Given the description of an element on the screen output the (x, y) to click on. 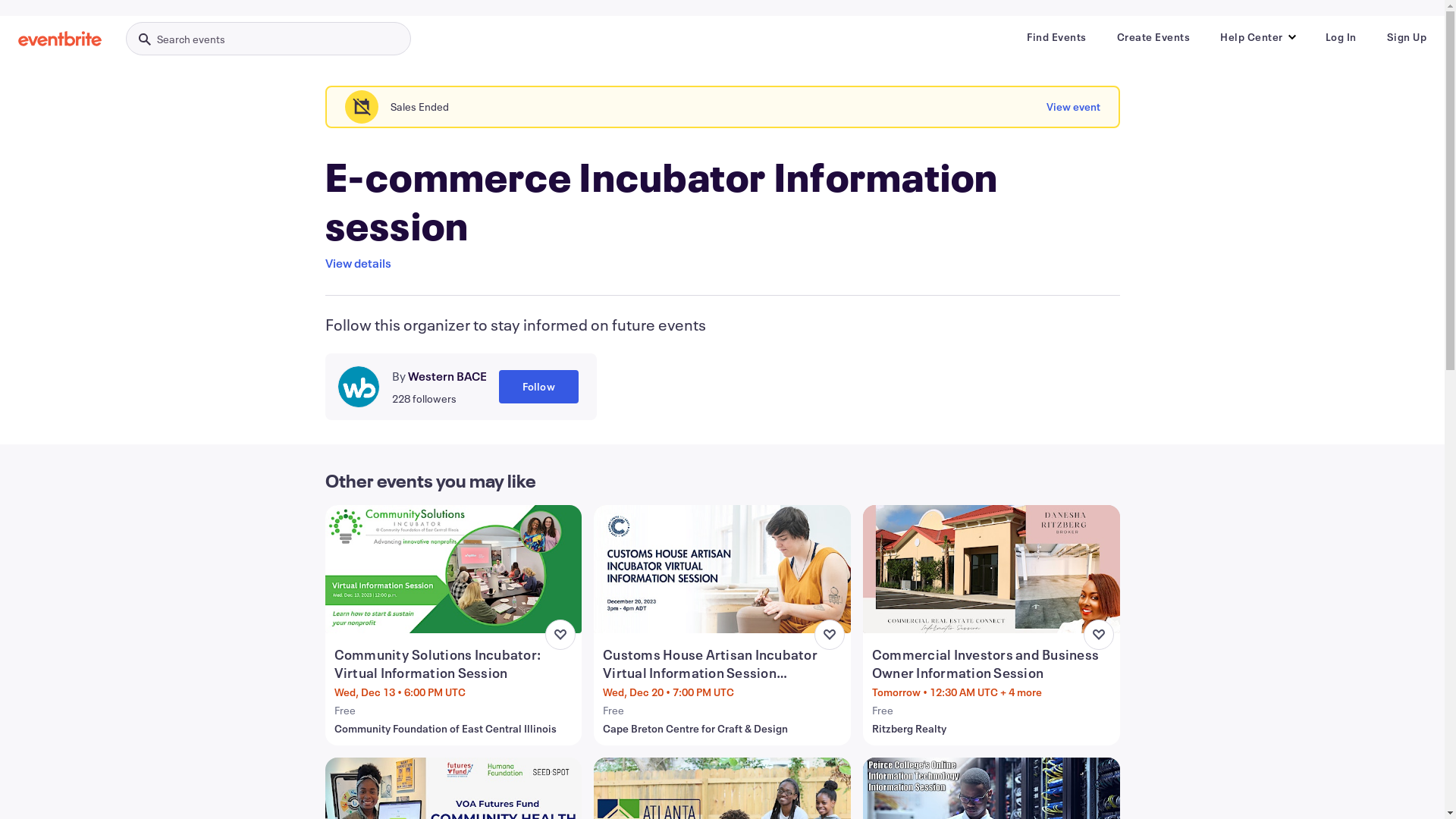
Community Solutions Incubator: Virtual Information Session Element type: text (454, 663)
Log In Element type: text (1340, 36)
View event Element type: text (1073, 106)
Search events Element type: text (268, 38)
Find Events Element type: text (1056, 36)
Commercial Investors and Business Owner Information Session Element type: text (992, 663)
Follow Element type: text (538, 386)
Eventbrite Element type: hover (59, 38)
View details Element type: text (357, 262)
Create Events Element type: text (1152, 36)
Sign Up Element type: text (1406, 36)
